Given the description of an element on the screen output the (x, y) to click on. 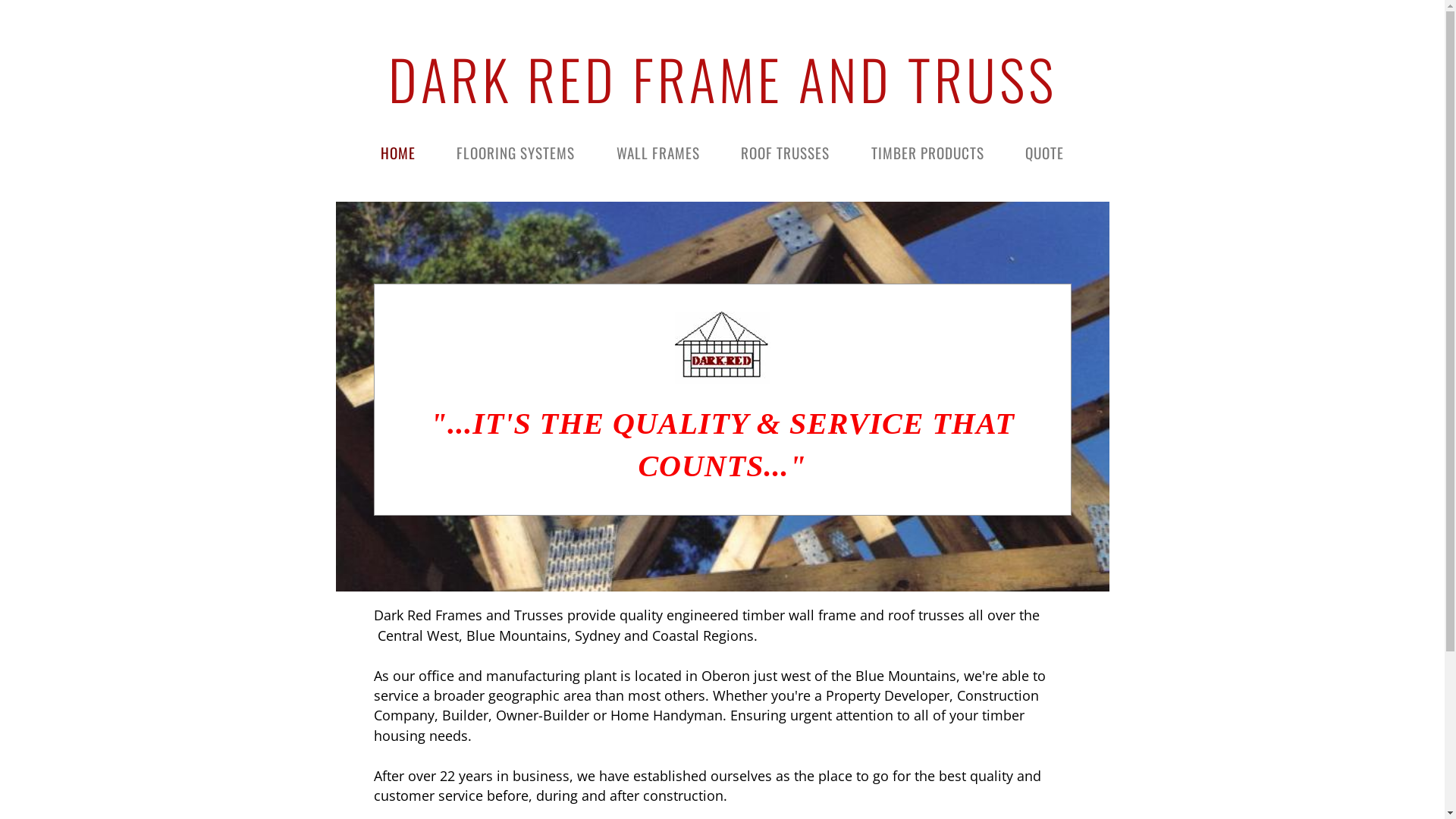
DARK RED FRAME AND TRUSS Element type: text (722, 78)
TIMBER PRODUCTS Element type: text (927, 152)
QUOTE Element type: text (1044, 152)
ROOF TRUSSES Element type: text (784, 152)
FLOORING SYSTEMS Element type: text (515, 152)
HOME Element type: text (397, 152)
WALL FRAMES Element type: text (657, 152)
